Given the description of an element on the screen output the (x, y) to click on. 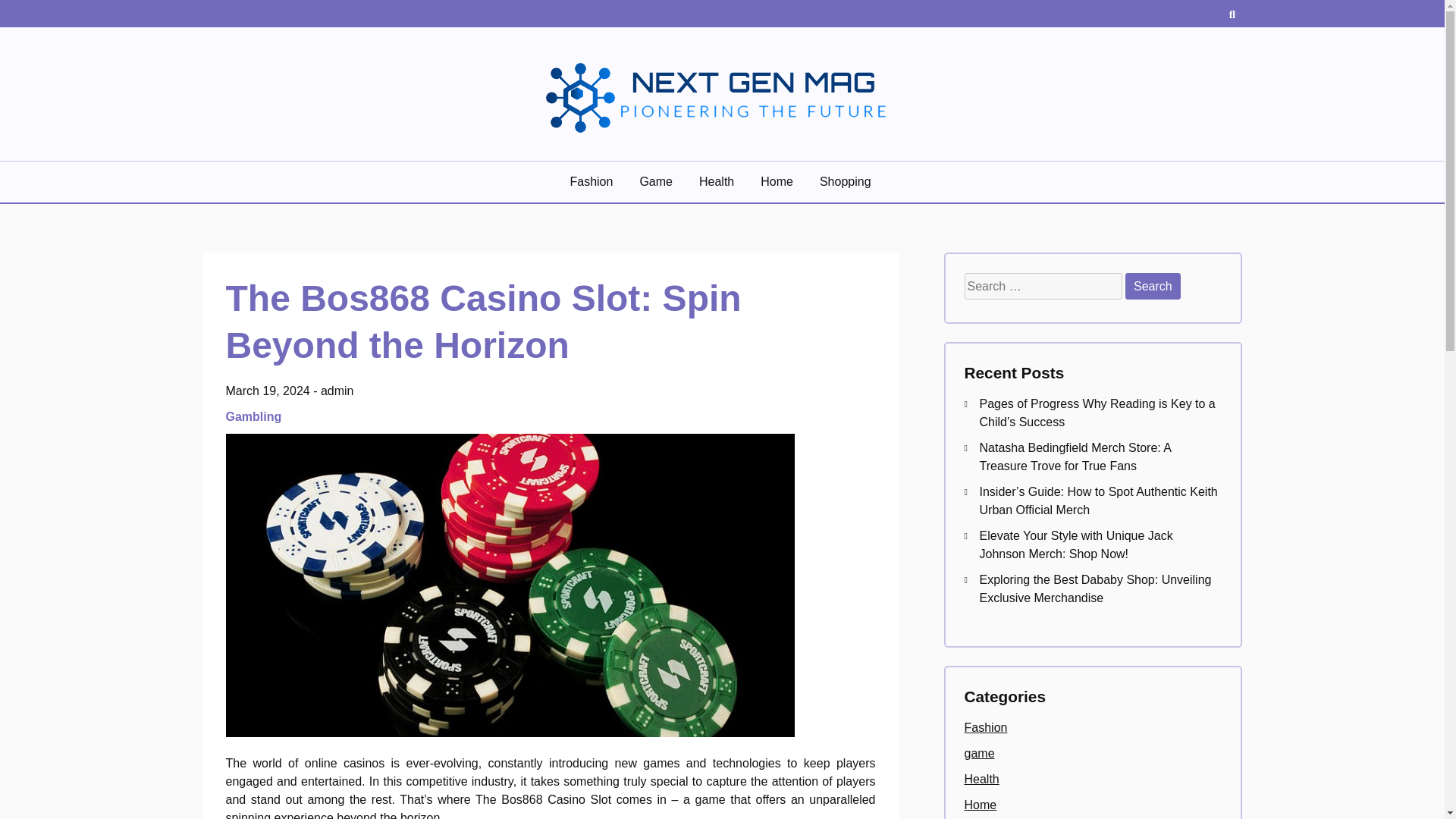
Search (1152, 285)
Game (657, 181)
March 19, 2024 (267, 390)
Shopping (847, 181)
Fashion (985, 727)
game (978, 753)
Search (1152, 285)
Fashion (592, 181)
admin (336, 390)
Search (1152, 285)
Elevate Your Style with Unique Jack Johnson Merch: Shop Now! (1076, 544)
Home (778, 181)
Health (980, 779)
